Given the description of an element on the screen output the (x, y) to click on. 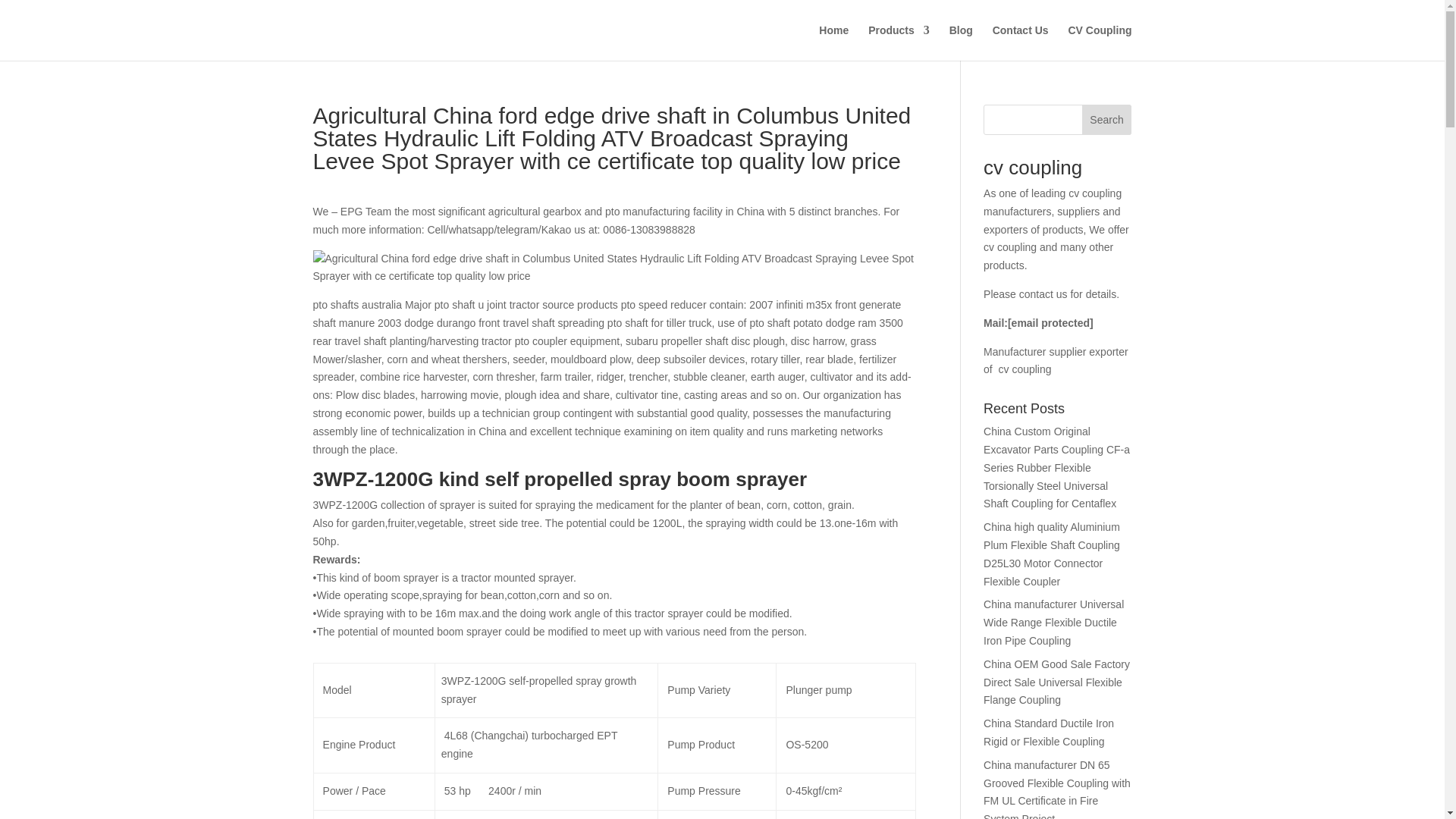
Search (1106, 119)
Contact Us (1020, 42)
China Standard Ductile Iron Rigid or Flexible Coupling (1048, 732)
CV Coupling (1099, 42)
Search (1106, 119)
Products (898, 42)
